Given the description of an element on the screen output the (x, y) to click on. 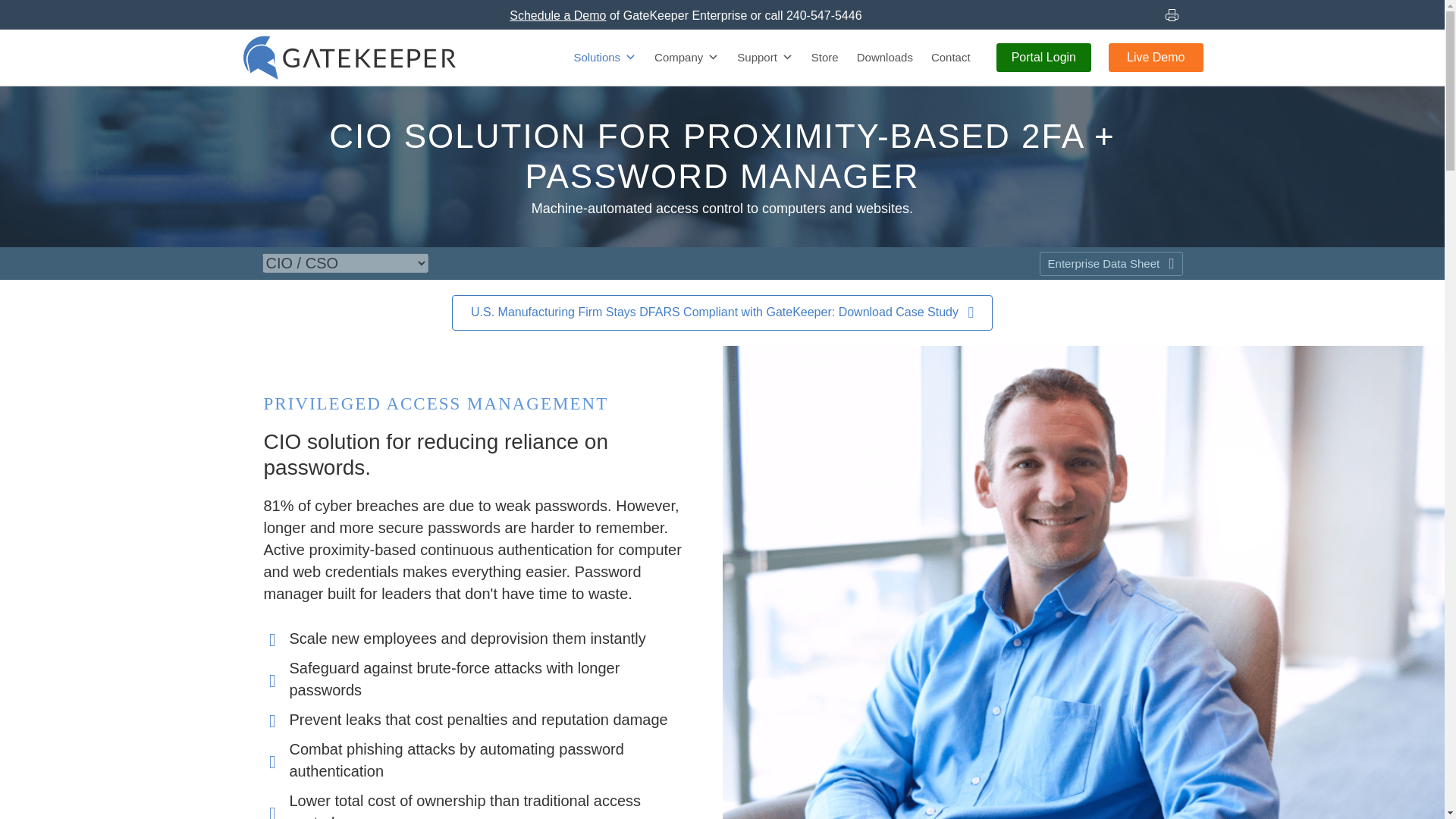
GateKeeper (348, 57)
Schedule a Demo (557, 15)
240-547-5446 (823, 15)
Solutions (604, 57)
